Given the description of an element on the screen output the (x, y) to click on. 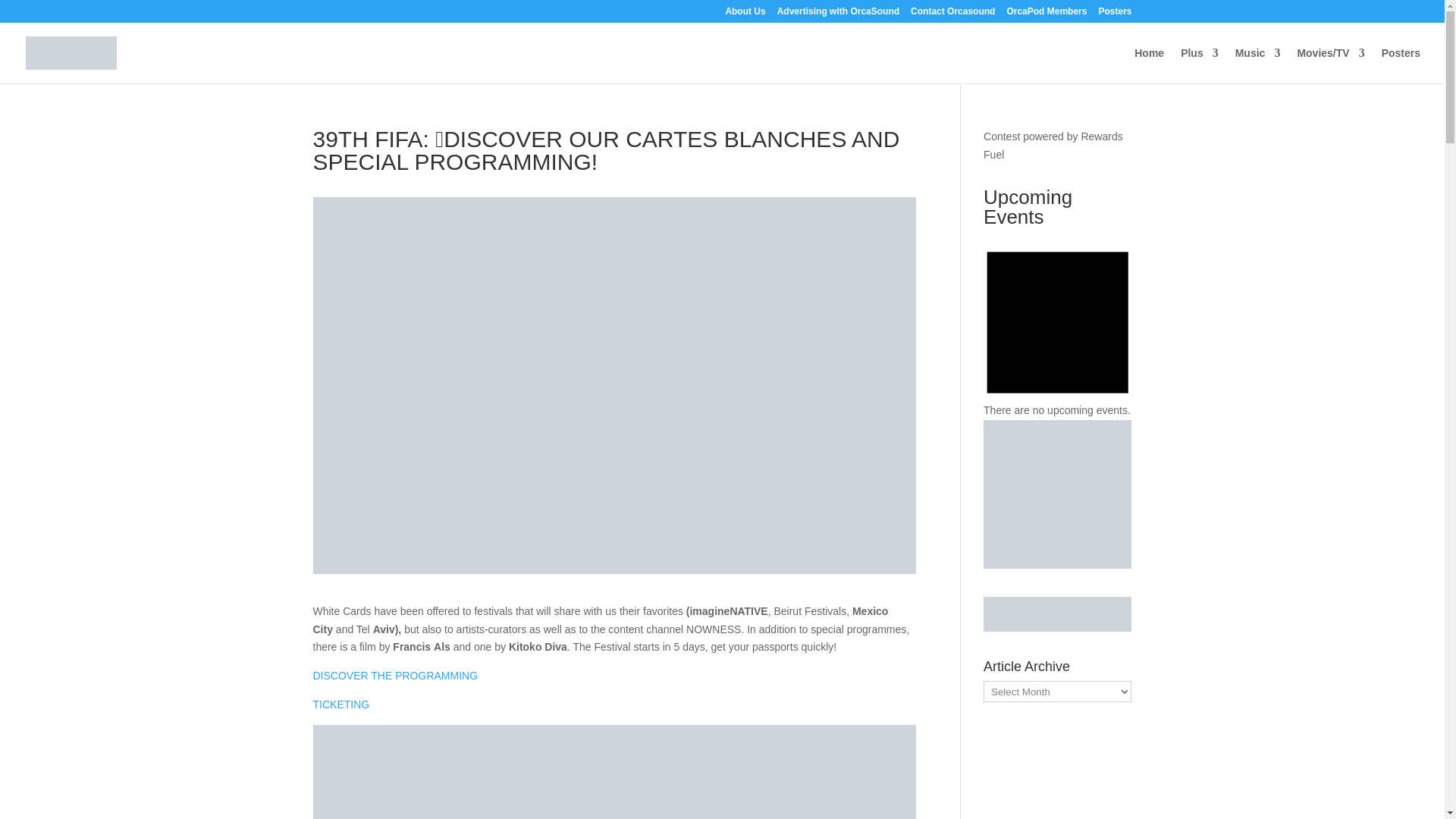
Posters (1114, 14)
About Us (745, 14)
Plus (1199, 65)
Contact Orcasound (952, 14)
Music (1257, 65)
OrcaPod Members (1046, 14)
Advertising with OrcaSound (838, 14)
